Given the description of an element on the screen output the (x, y) to click on. 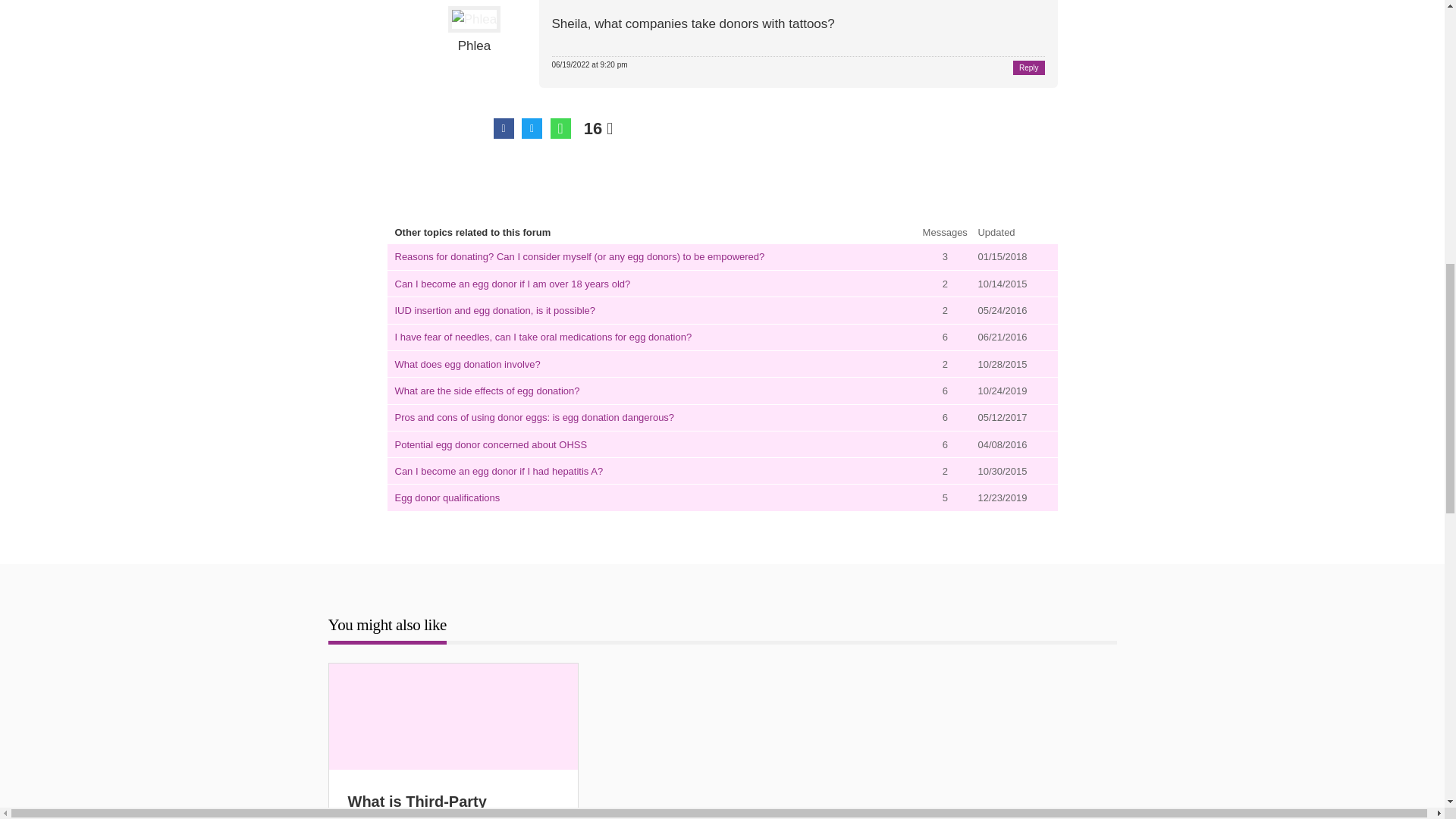
Share in WhatsApp (560, 127)
Share in Twitter (531, 127)
Share in facebook (503, 127)
